Given the description of an element on the screen output the (x, y) to click on. 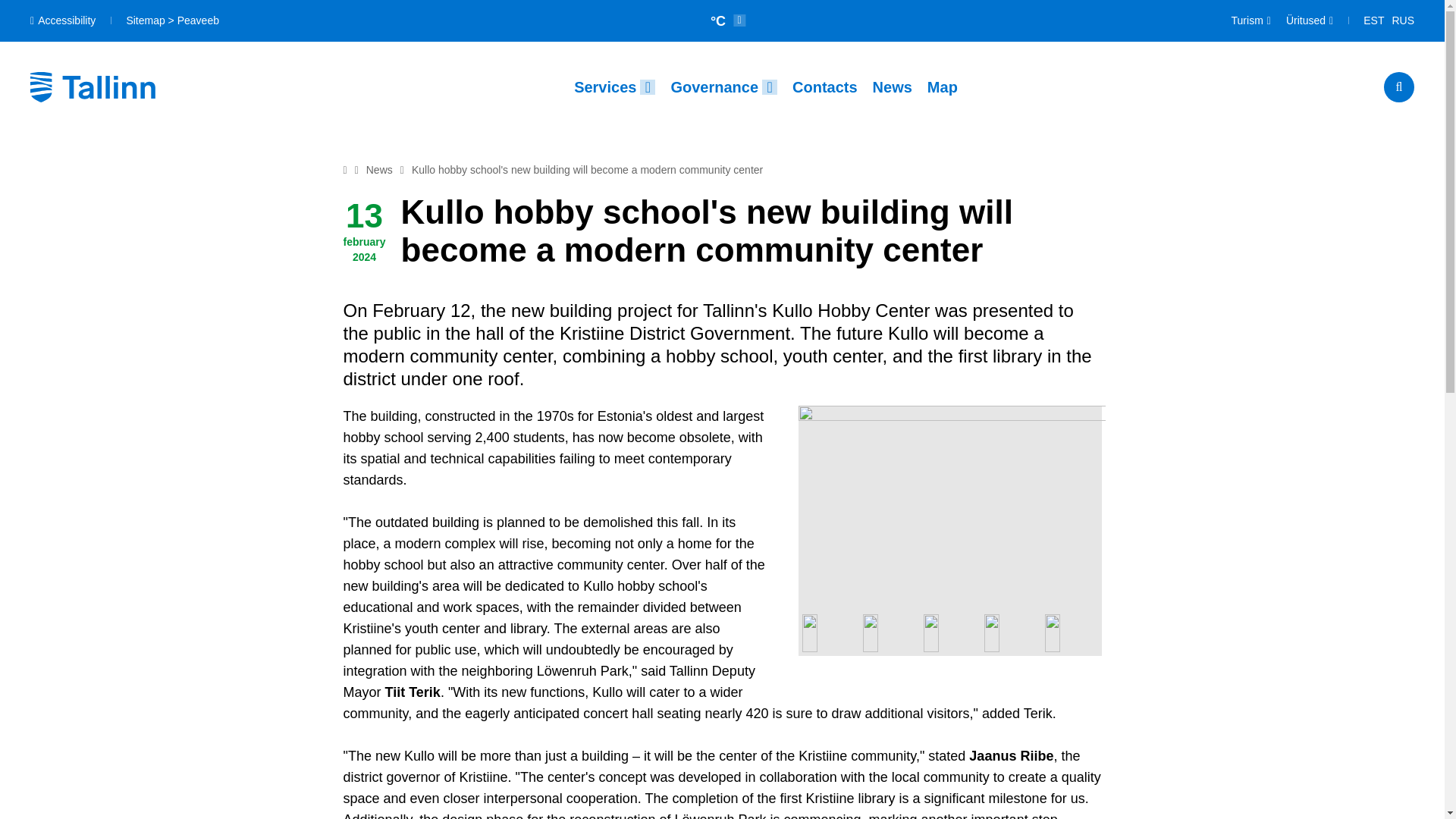
Accessibility (63, 20)
RUS (1402, 20)
EST (1373, 20)
Services (614, 87)
Turism (1251, 20)
